Given the description of an element on the screen output the (x, y) to click on. 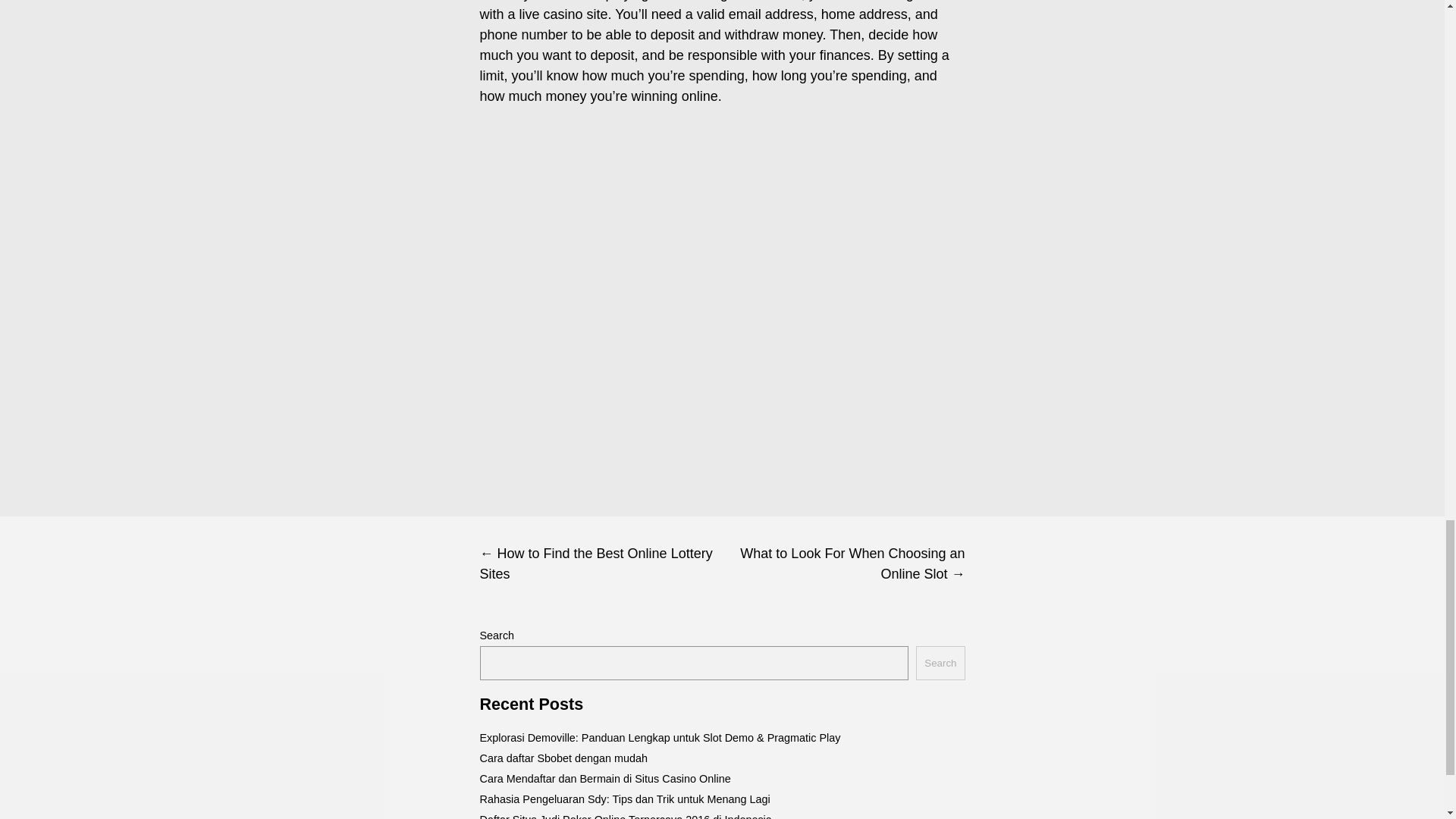
How to Find the Best Online Lottery Sites (600, 563)
Rahasia Pengeluaran Sdy: Tips dan Trik untuk Menang Lagi (624, 799)
Search (939, 663)
Cara Mendaftar dan Bermain di Situs Casino Online (604, 778)
What to Look For When Choosing an Online Slot (842, 563)
Cara daftar Sbobet dengan mudah (563, 758)
Daftar Situs Judi Poker Online Terpercaya 2016 di Indonesia (625, 816)
